Given the description of an element on the screen output the (x, y) to click on. 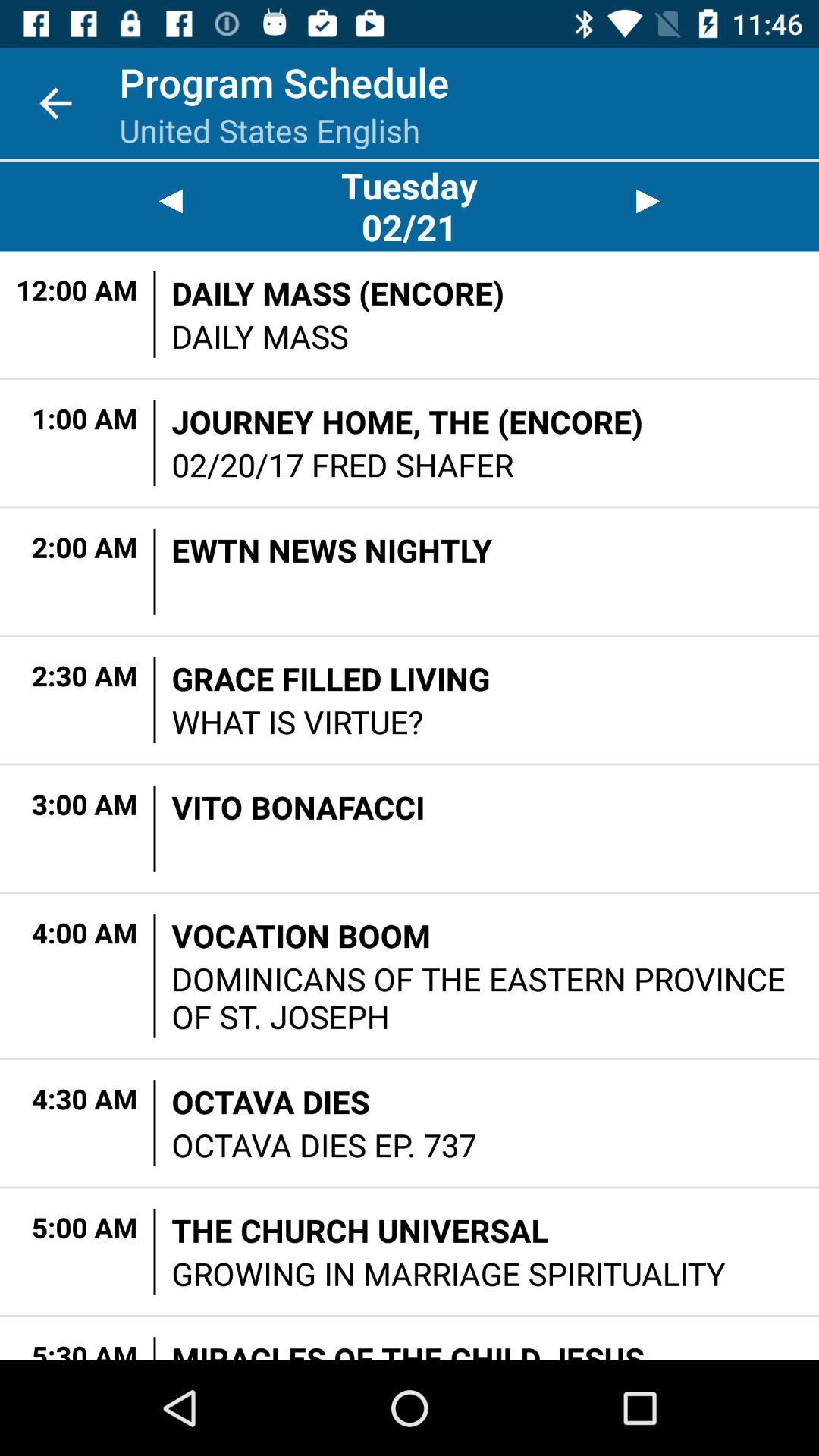
open icon next to vito bonafacci icon (154, 828)
